Given the description of an element on the screen output the (x, y) to click on. 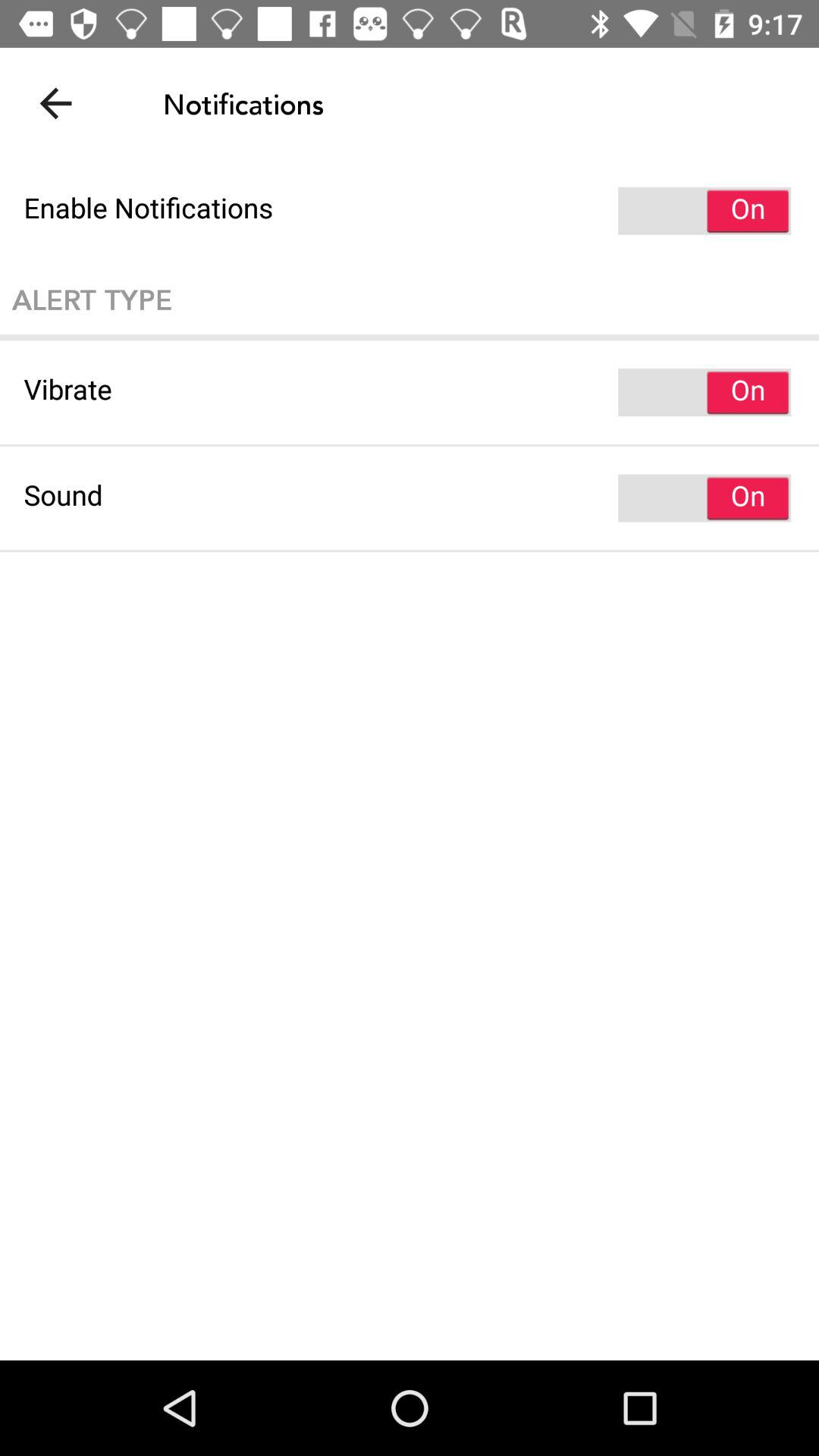
launch the icon above alert type icon (409, 210)
